Given the description of an element on the screen output the (x, y) to click on. 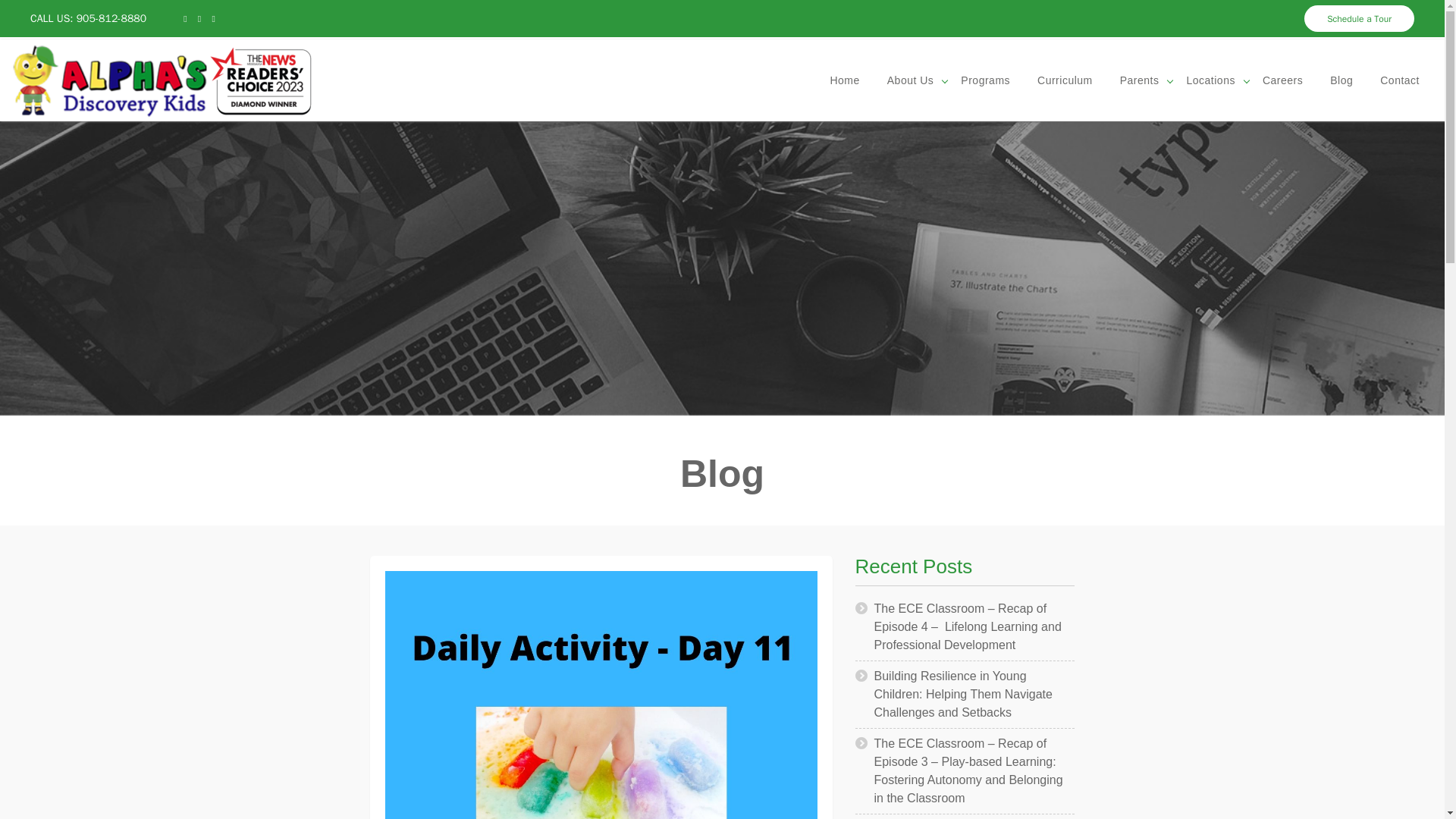
Schedule a Tour (1358, 17)
Programs (985, 80)
Curriculum (1064, 80)
Home (843, 80)
Careers (1282, 80)
About Us (910, 80)
Contact (1399, 80)
Parents (1139, 80)
905-812-8880 (112, 18)
Locations (1209, 80)
Blog (1341, 80)
